Given the description of an element on the screen output the (x, y) to click on. 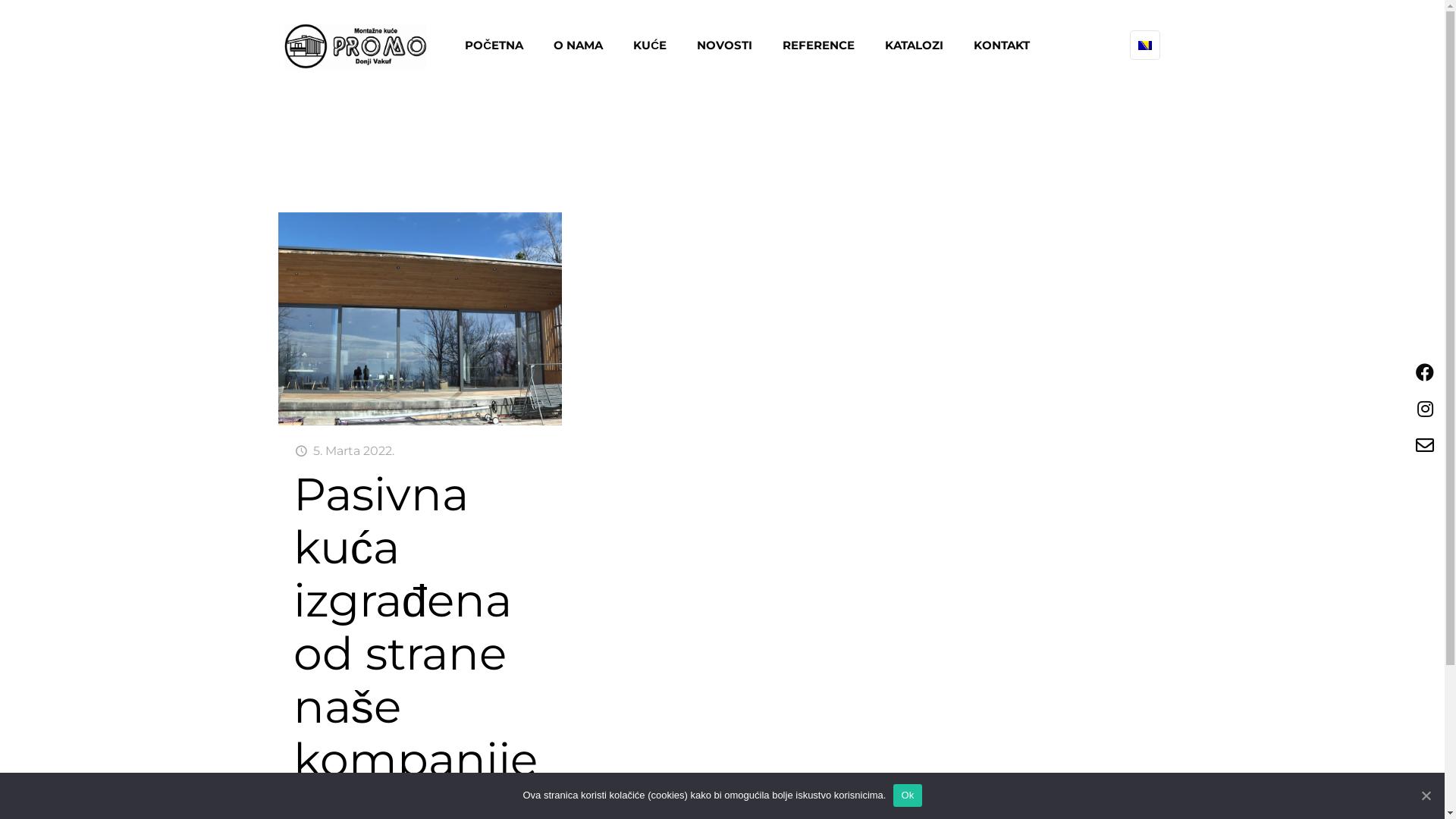
KATALOZI Element type: text (913, 45)
O NAMA Element type: text (578, 45)
Ok Element type: text (907, 795)
KONTAKT Element type: text (1001, 45)
REFERENCE Element type: text (818, 45)
Promo d.o.o. Element type: hover (355, 45)
NOVOSTI Element type: text (724, 45)
